Given the description of an element on the screen output the (x, y) to click on. 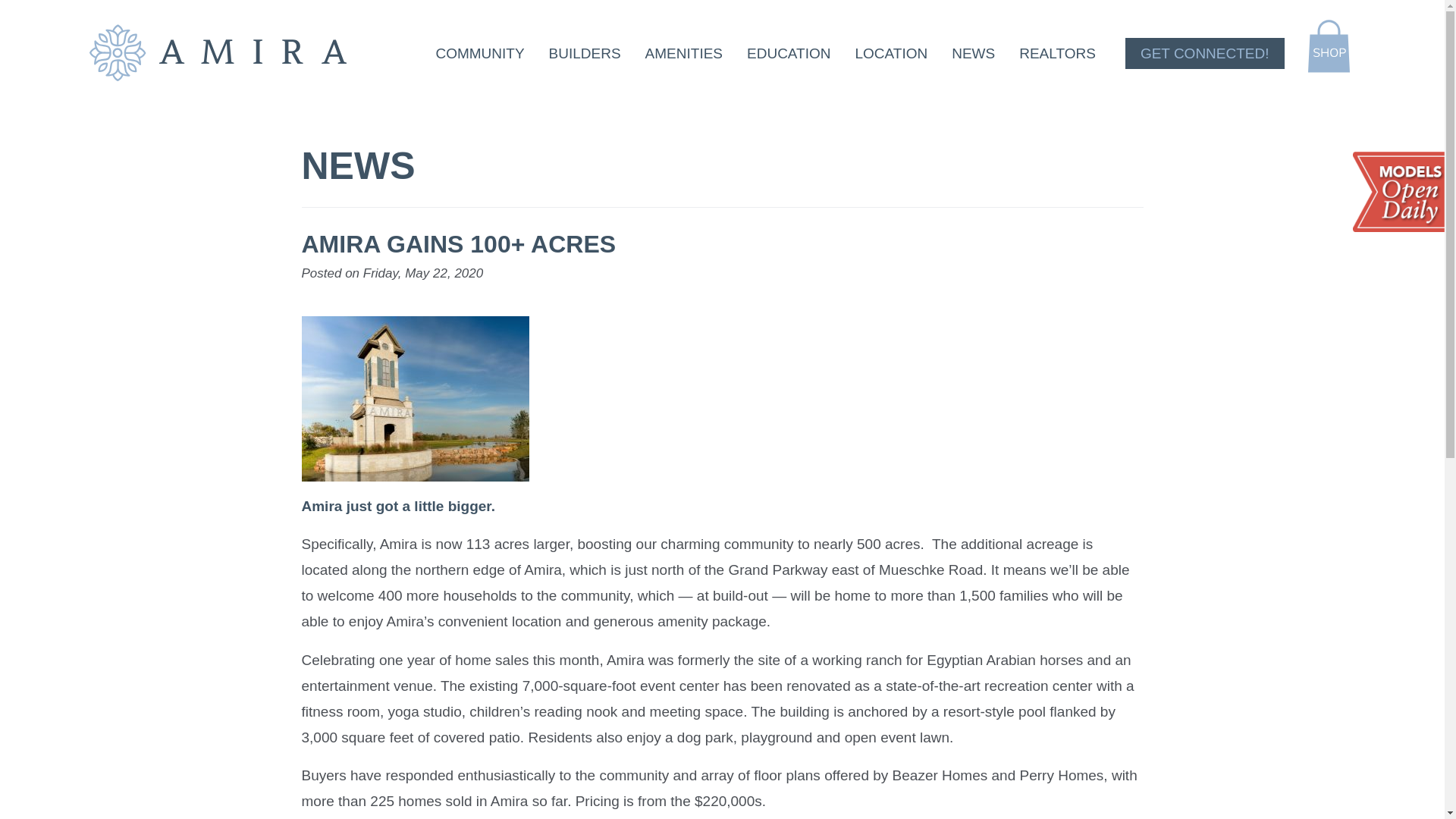
AMENITIES (684, 53)
REALTORS (1057, 53)
COMMUNITY (479, 53)
GET CONNECTED! (1204, 52)
NEWS (972, 53)
LOCATION (891, 53)
EDUCATION (788, 53)
BUILDERS (585, 53)
